Given the description of an element on the screen output the (x, y) to click on. 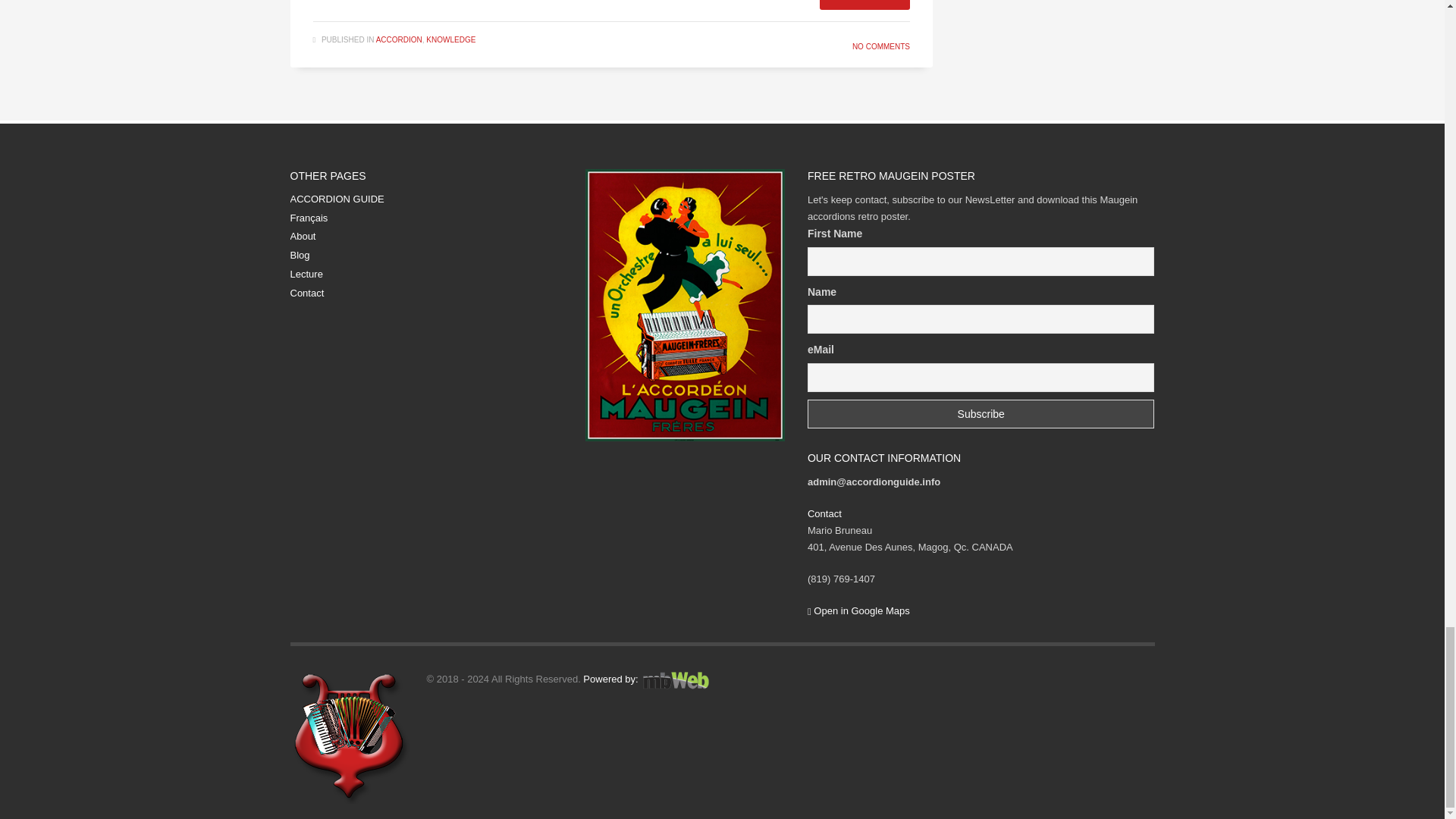
mbWeb (674, 680)
READ MORE (864, 4)
ACCORDION (398, 40)
NO COMMENTS (880, 46)
KNOWLEDGE (451, 40)
Subscribe (981, 413)
